Given the description of an element on the screen output the (x, y) to click on. 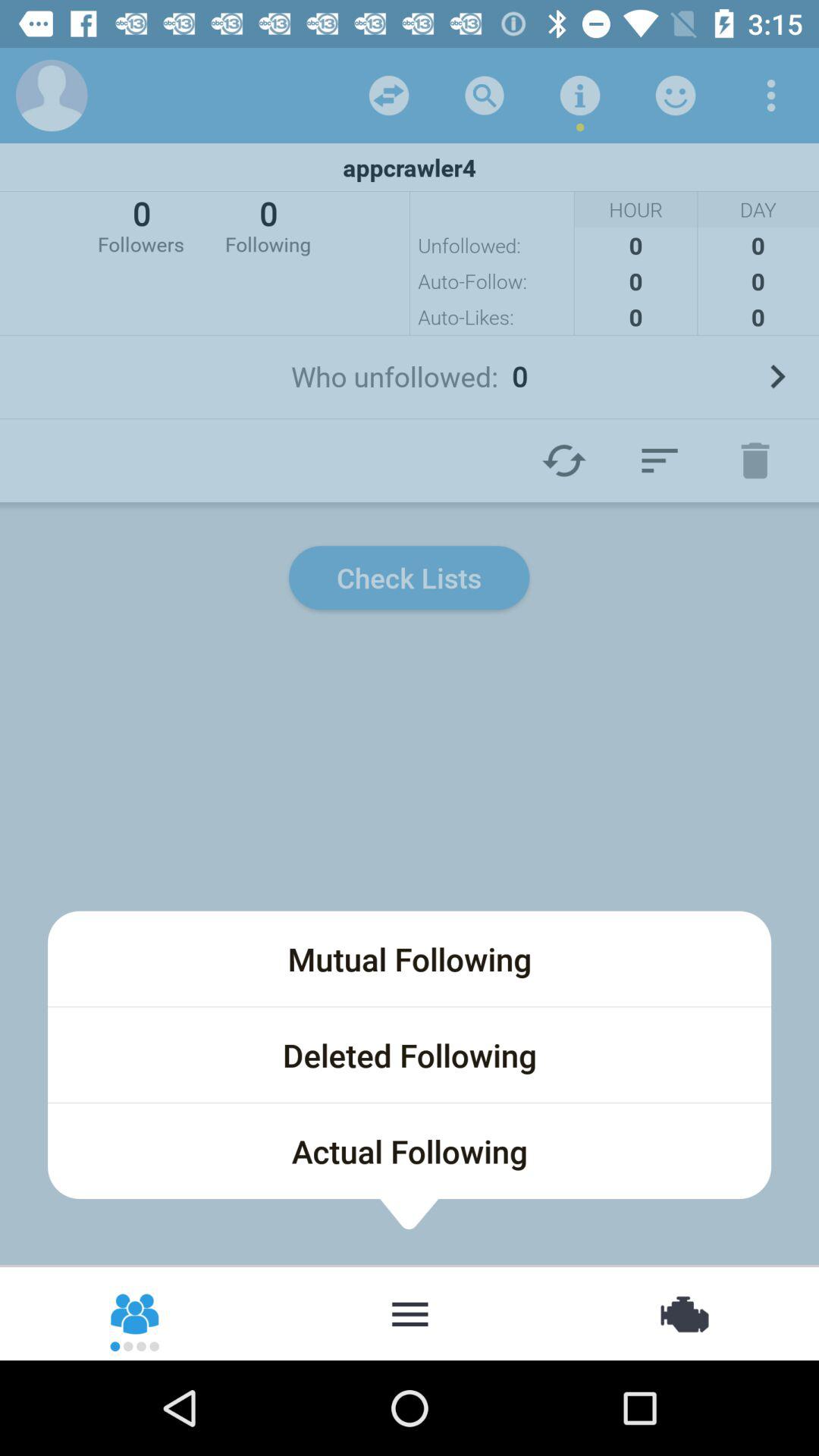
jump to deleted following (409, 1054)
